Given the description of an element on the screen output the (x, y) to click on. 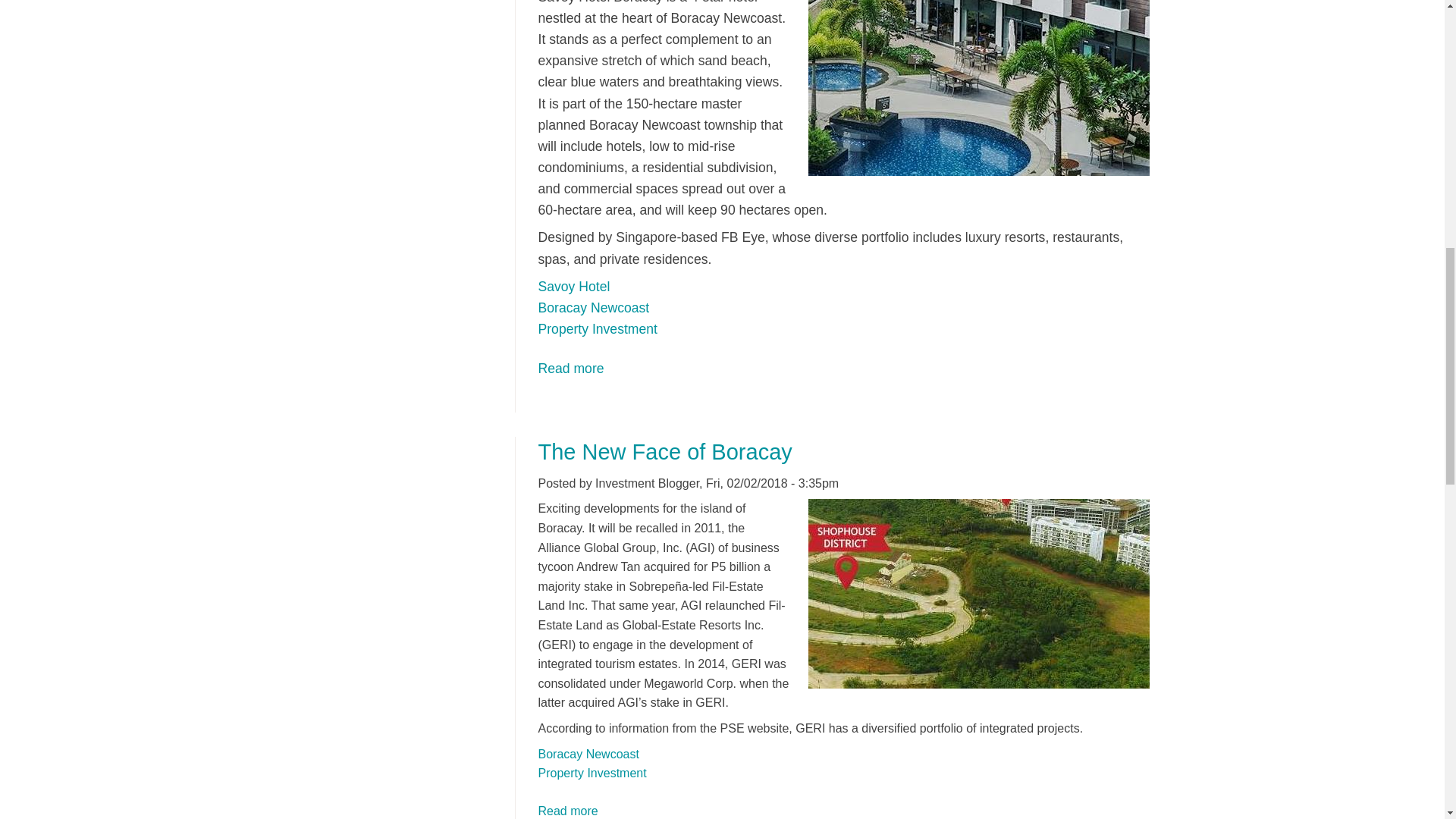
Savoy Hotel (574, 286)
The New Face of Boracay (568, 810)
Boracay Newcoast (593, 307)
The New Face of Boracay (665, 451)
Savoy Hotel Boracay: The Newest Beach Destination  (571, 368)
Boracay Newcoast (588, 753)
Property Investment (598, 328)
Property Investment (568, 810)
